Given the description of an element on the screen output the (x, y) to click on. 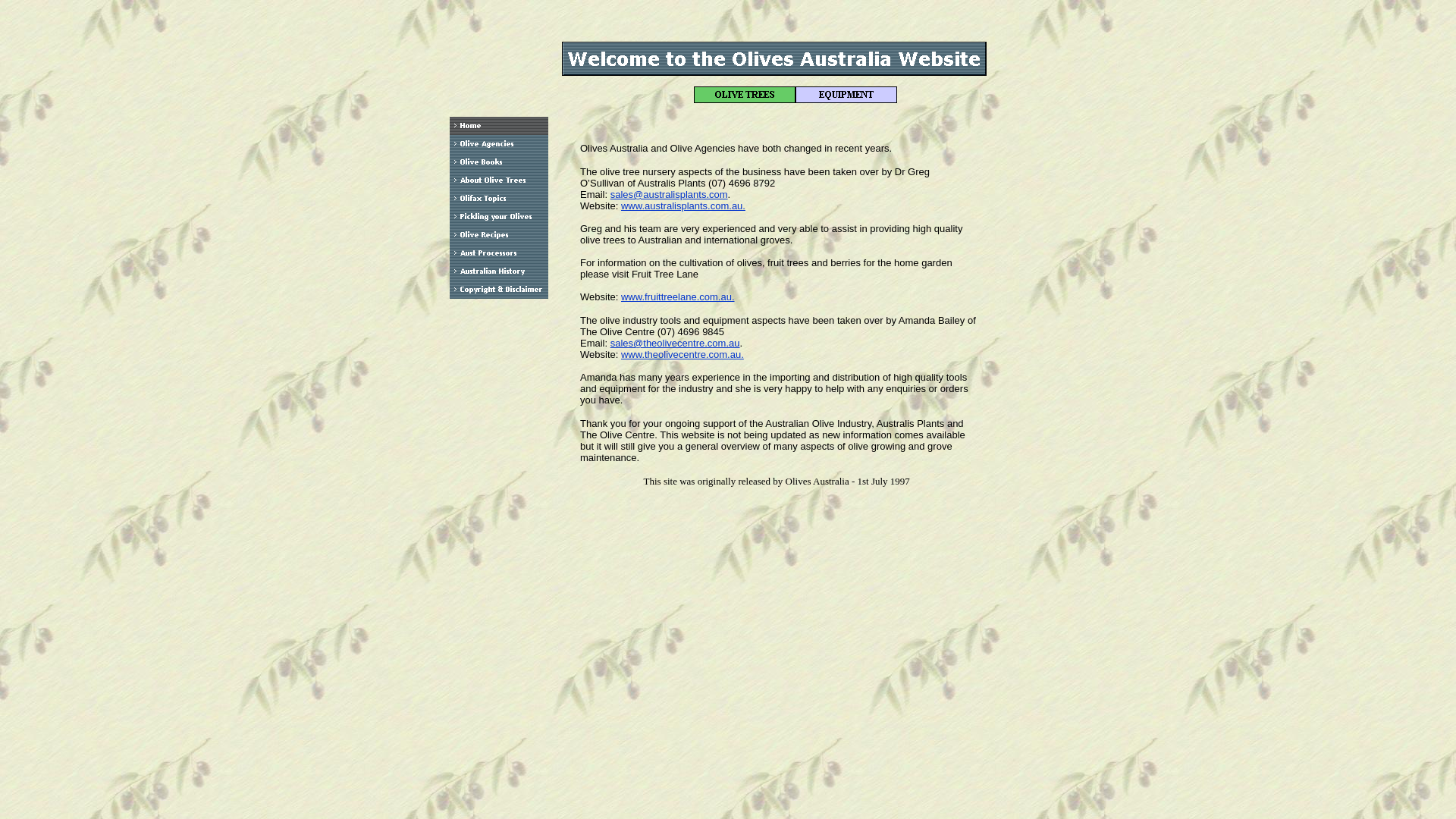
sales@theolivecentre.com.au Element type: text (675, 342)
sales@australisplants.com Element type: text (669, 194)
www.theolivecentre.com.au. Element type: text (682, 354)
www.australisplants.com.au. Element type: text (683, 205)
www.fruittreelane.com.au. Element type: text (677, 296)
